Given the description of an element on the screen output the (x, y) to click on. 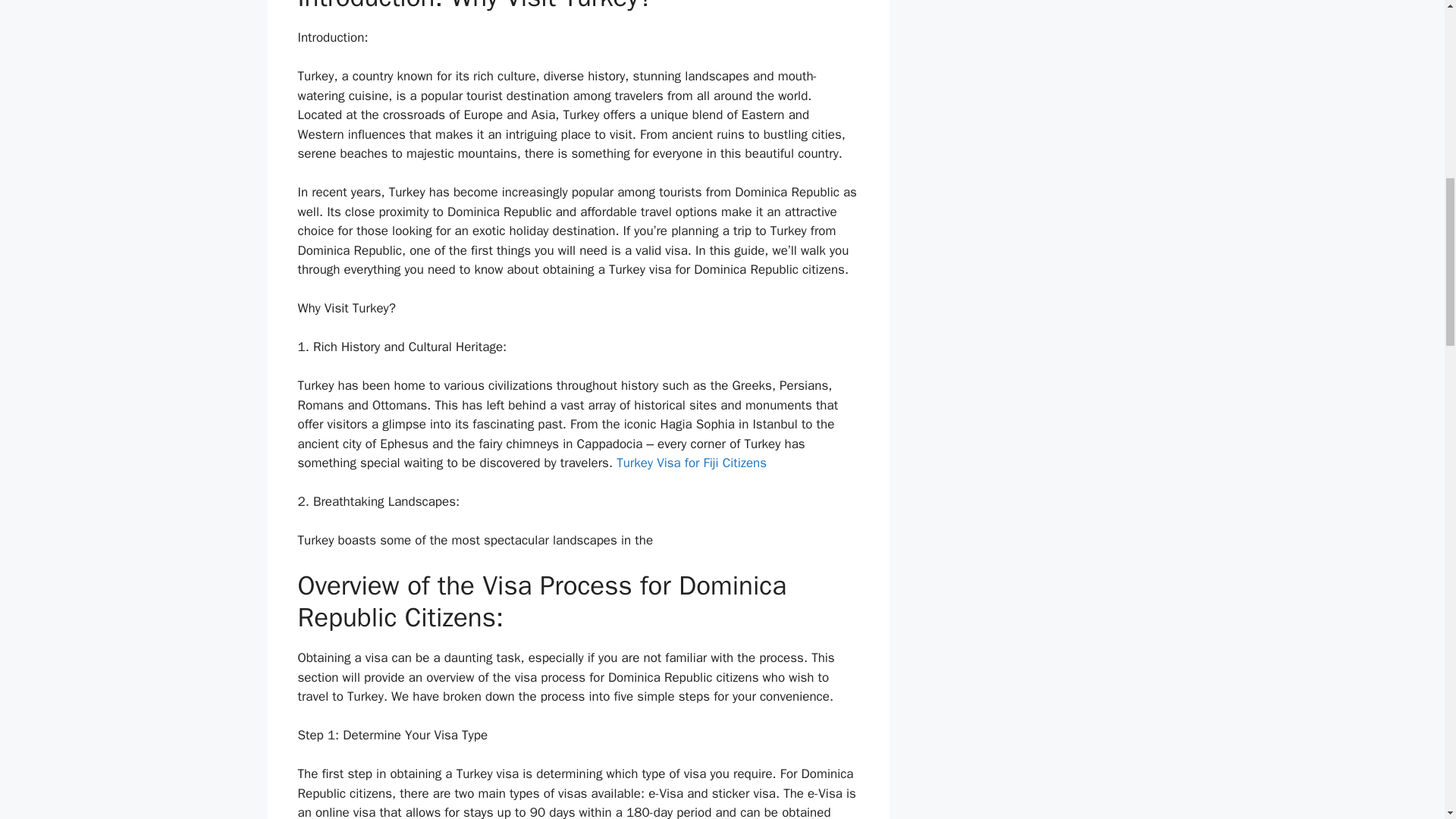
Turkey Visa for Fiji Citizens (691, 462)
